Given the description of an element on the screen output the (x, y) to click on. 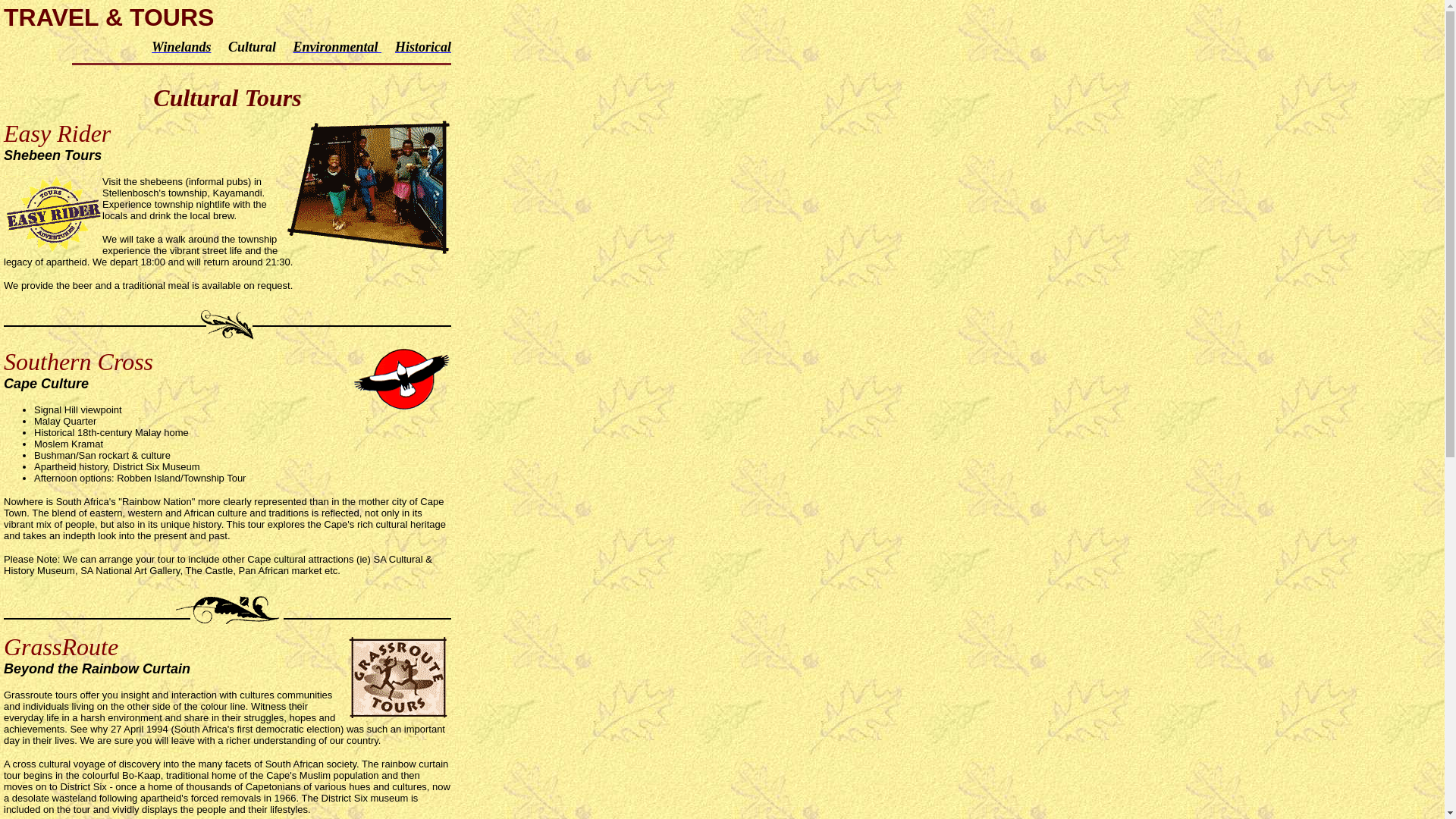
Winelands (181, 47)
Environmental (336, 47)
Historical (422, 47)
